Given the description of an element on the screen output the (x, y) to click on. 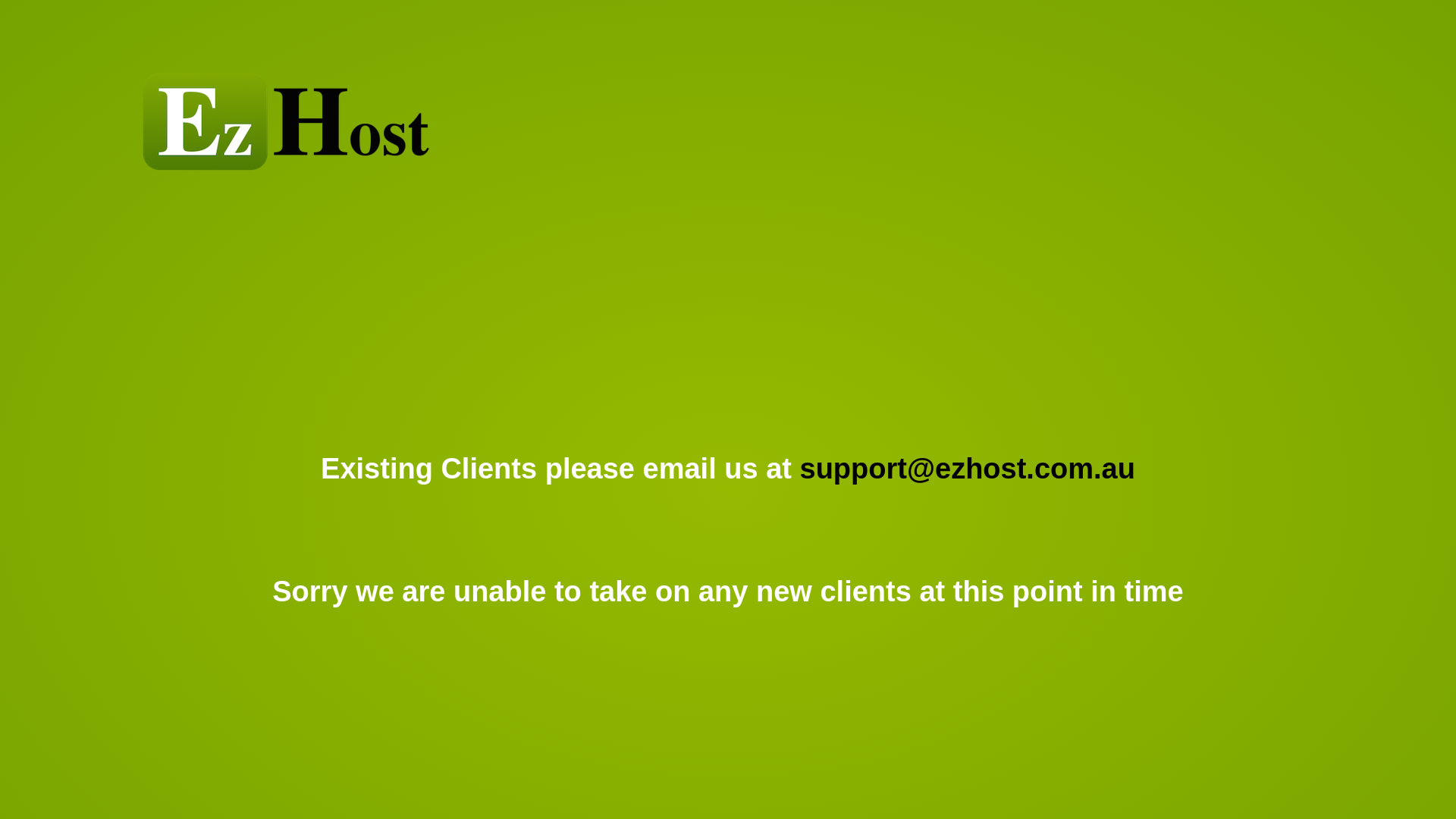
support@ezhost.com.au Element type: text (967, 468)
